Given the description of an element on the screen output the (x, y) to click on. 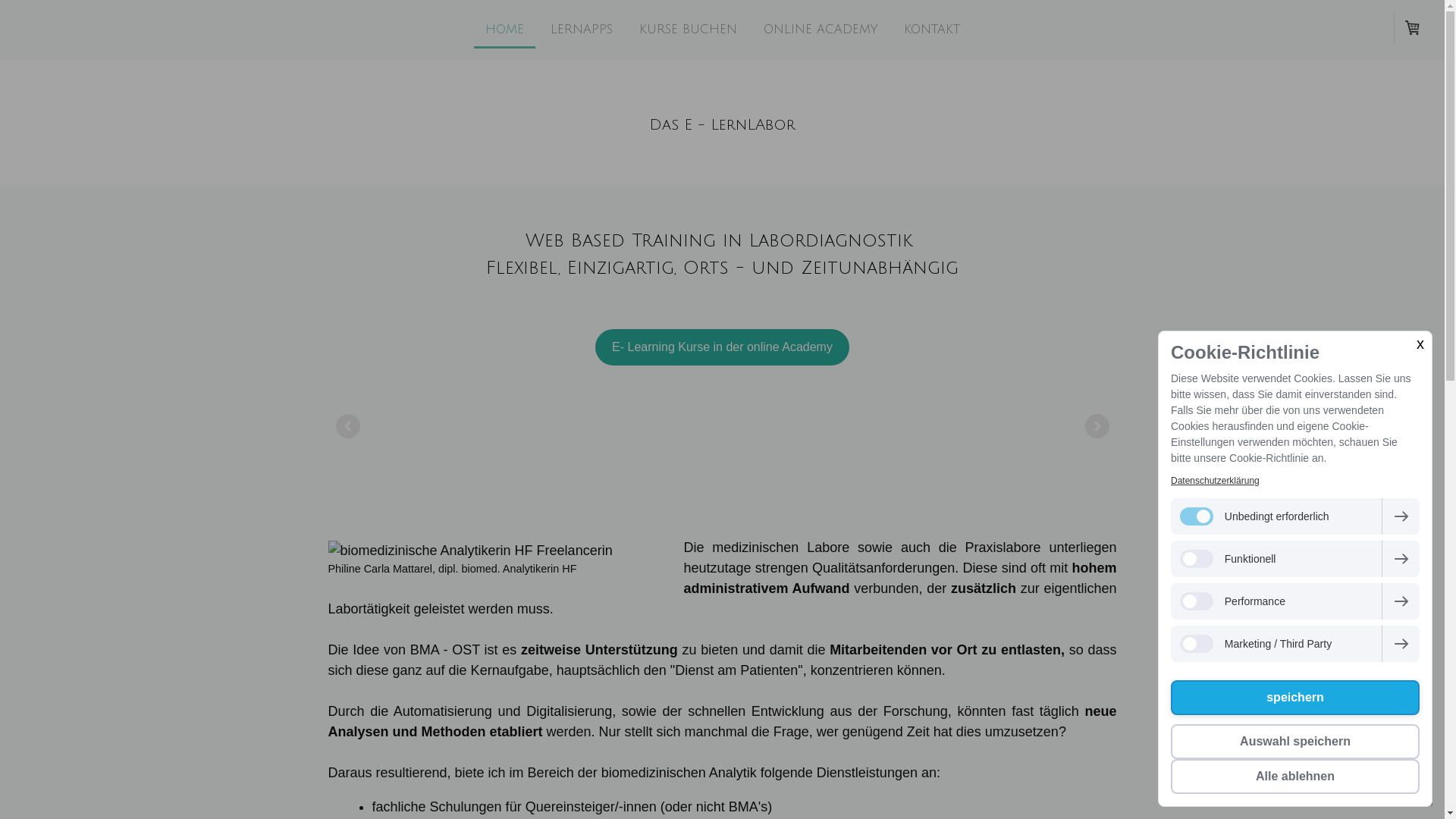
speichern Element type: text (1294, 697)
LERNAPPS Element type: text (580, 29)
Alle ablehnen Element type: text (1294, 776)
Auswahl speichern Element type: text (1294, 741)
Das E - LernLAbor Element type: text (721, 125)
HOME Element type: text (503, 29)
KURSE BUCHEN Element type: text (687, 29)
E- Learning Kurse in der online Academy Element type: text (722, 347)
ONLINE ACADEMY Element type: text (820, 29)
KONTAKT Element type: text (930, 29)
